Given the description of an element on the screen output the (x, y) to click on. 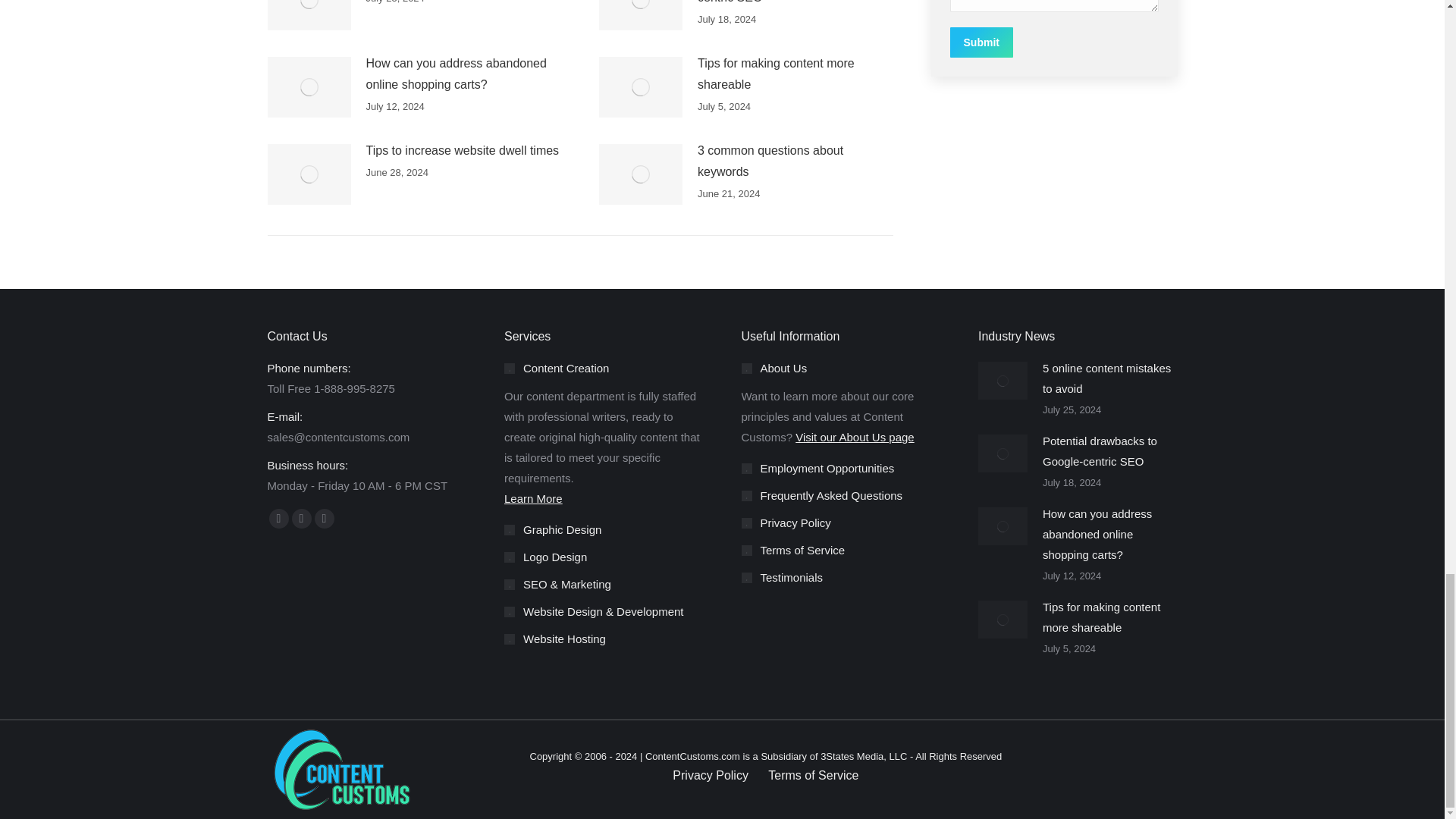
submit (1053, 43)
